Given the description of an element on the screen output the (x, y) to click on. 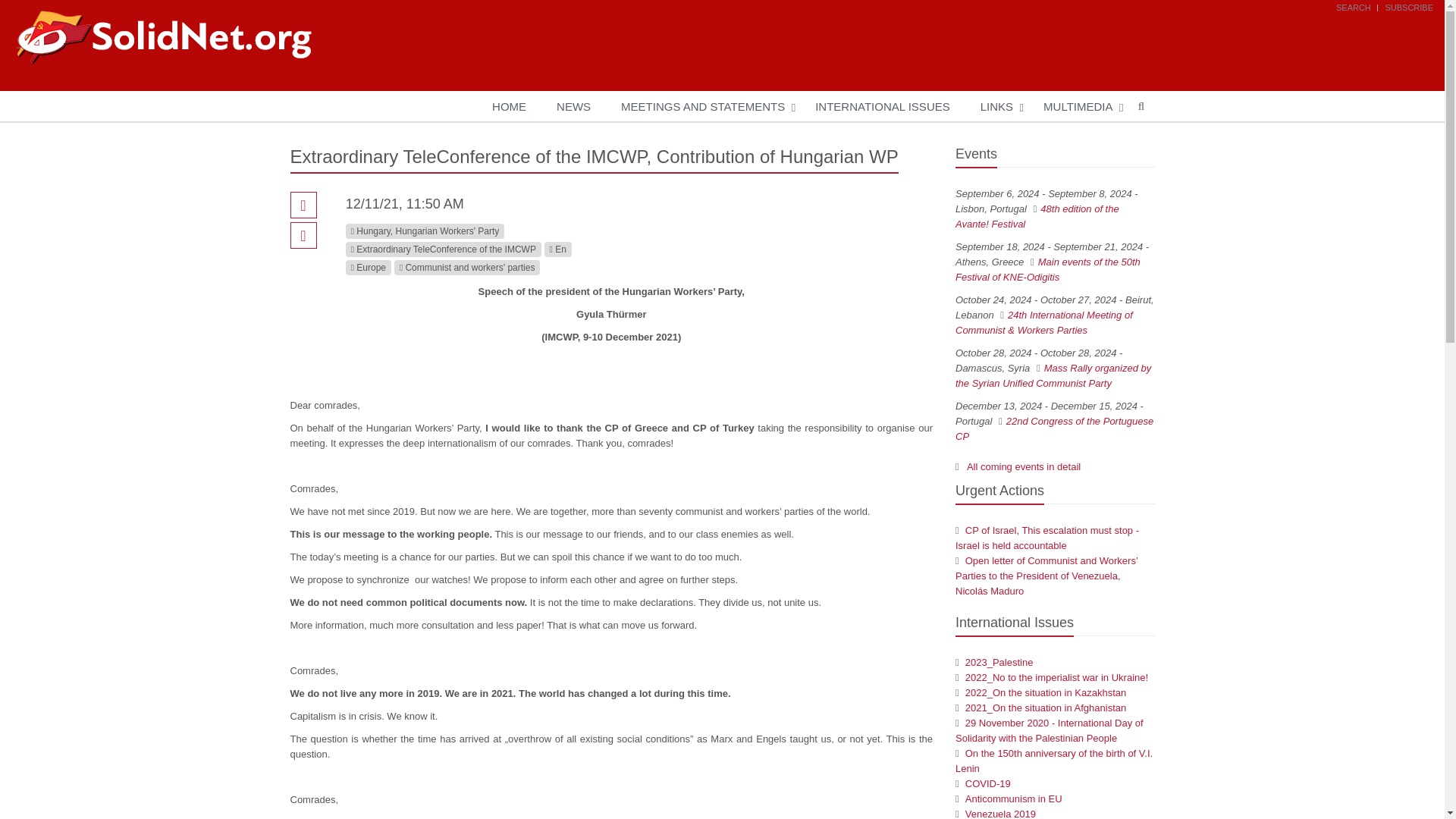
SolidNet (162, 38)
MEETINGS AND STATEMENTS (702, 106)
SEARCH (1353, 7)
HOME (509, 106)
INTERNATIONAL ISSUES (882, 106)
NEWS (573, 106)
LINKS (996, 106)
SUBSCRIBE (1408, 7)
